Given the description of an element on the screen output the (x, y) to click on. 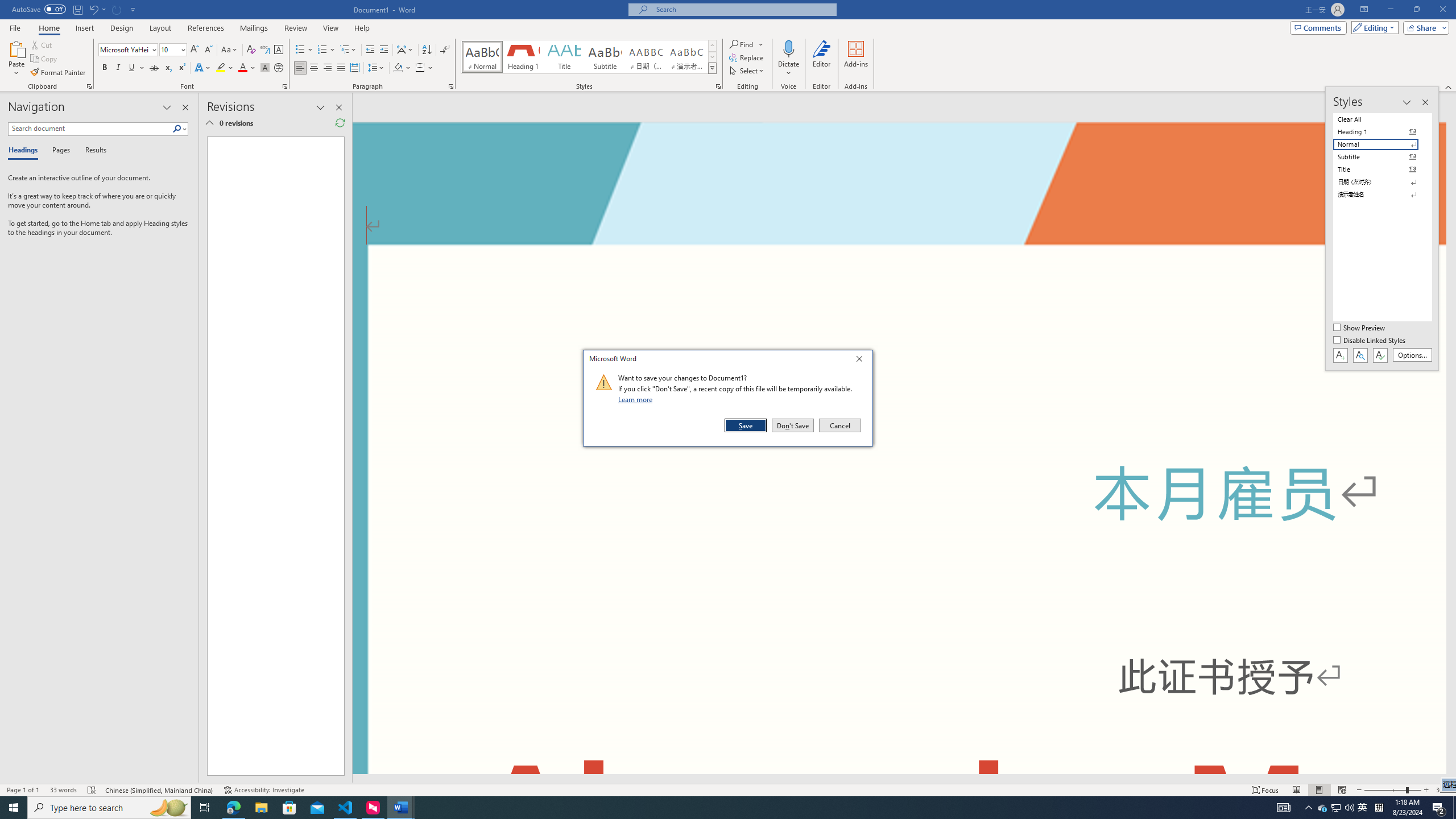
Enclose Characters... (278, 67)
View (330, 28)
System (6, 6)
Mode (1372, 27)
Minimize (1390, 9)
Strikethrough (154, 67)
Font Size (172, 49)
Paragraph... (450, 85)
Options... (1412, 354)
Find (742, 44)
Row Down (711, 56)
Text Highlight Color Yellow (220, 67)
Task Pane Options (167, 107)
Center (313, 67)
